Given the description of an element on the screen output the (x, y) to click on. 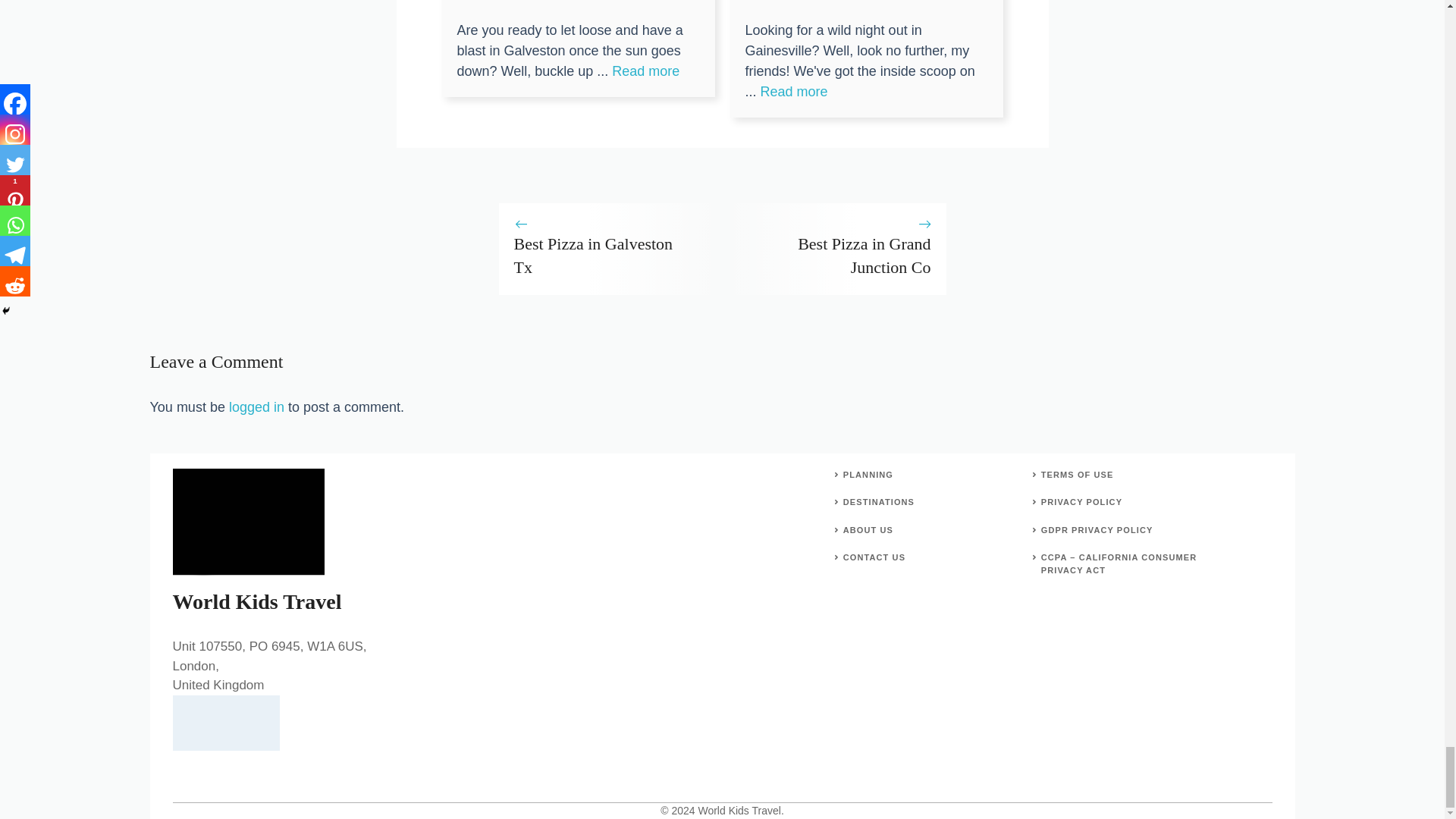
Fun Things to Do in Galveston at Night (645, 70)
Fun Things to Do in Gainesville at Night (794, 91)
